Given the description of an element on the screen output the (x, y) to click on. 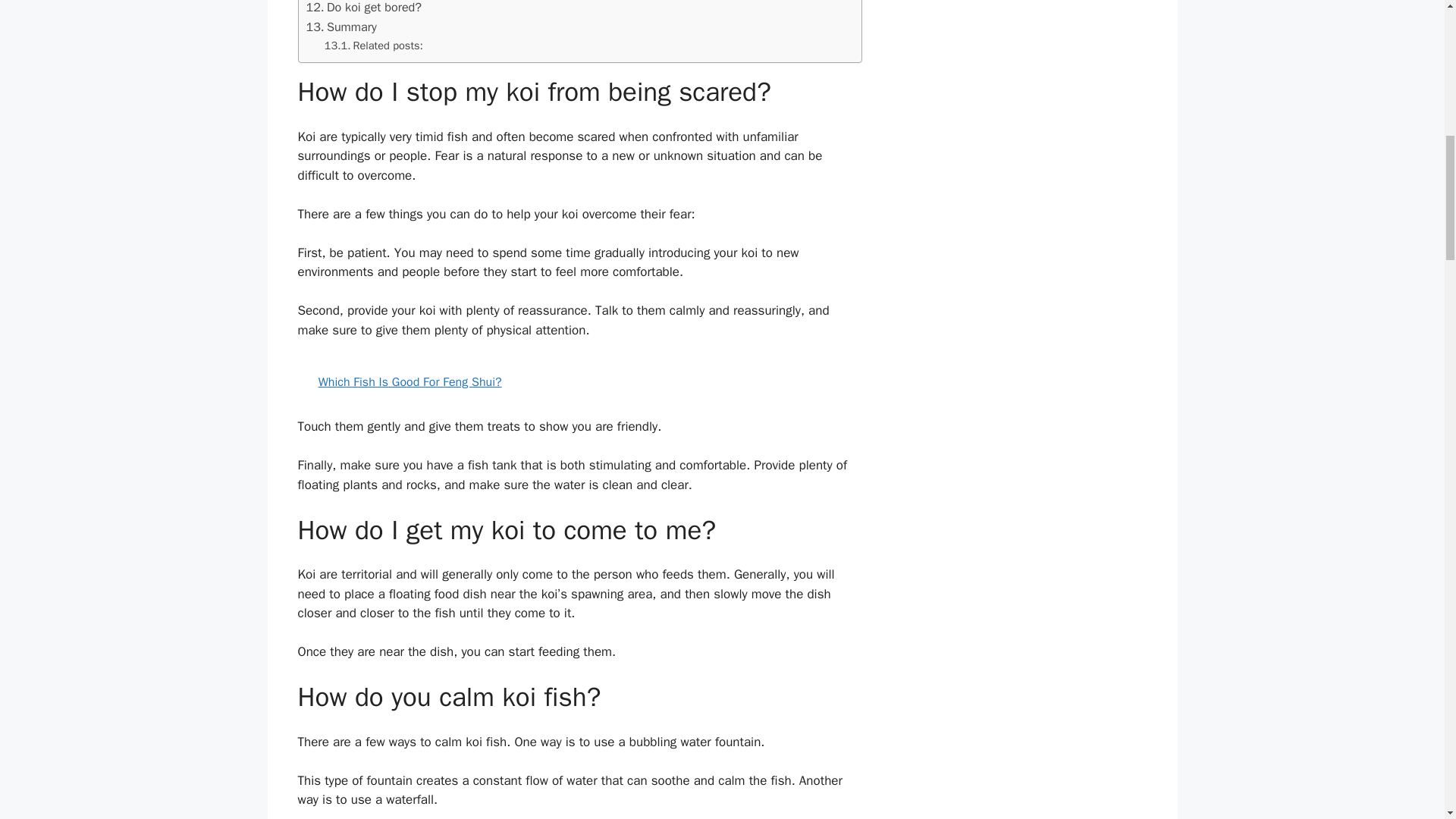
Do koi get bored? (363, 8)
Summary (341, 26)
  Which Fish Is Good For Feng Shui? (579, 381)
Related posts: (373, 45)
